Given the description of an element on the screen output the (x, y) to click on. 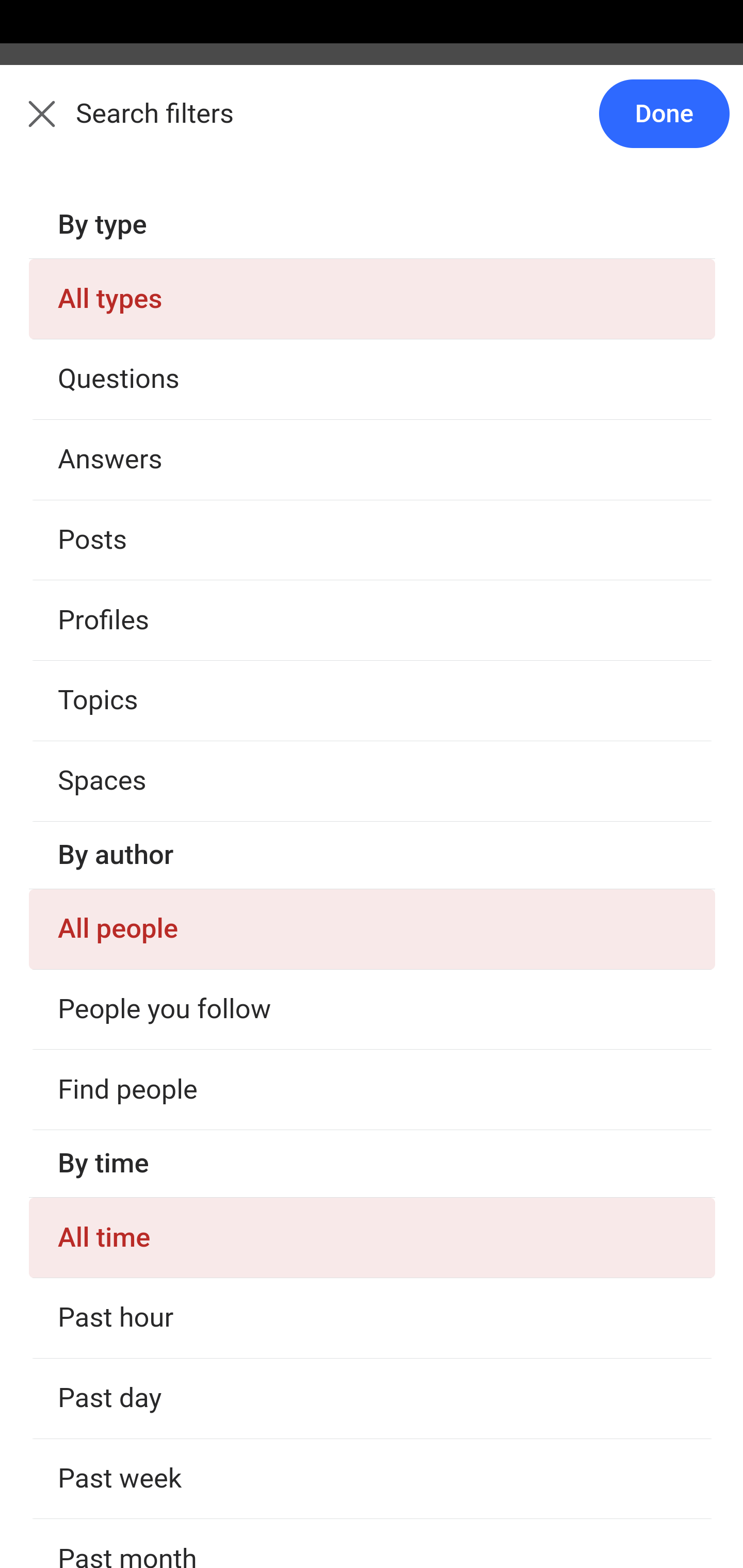
Back Search (371, 125)
Back (30, 125)
Answer (125, 387)
Answer (125, 626)
Answer (125, 1022)
172 answers 172  answers (90, 1163)
